Given the description of an element on the screen output the (x, y) to click on. 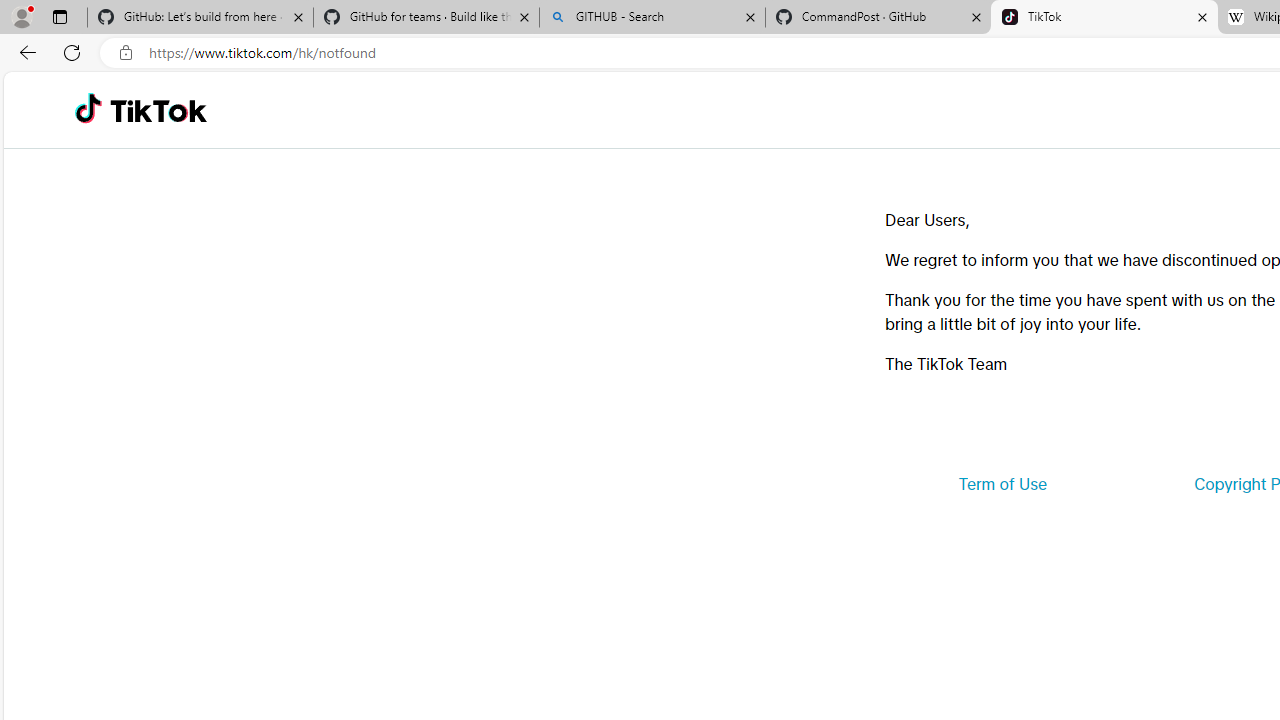
TikTok (158, 110)
GITHUB - Search (652, 17)
Term of Use (1002, 484)
TikTok (1104, 17)
